Given the description of an element on the screen output the (x, y) to click on. 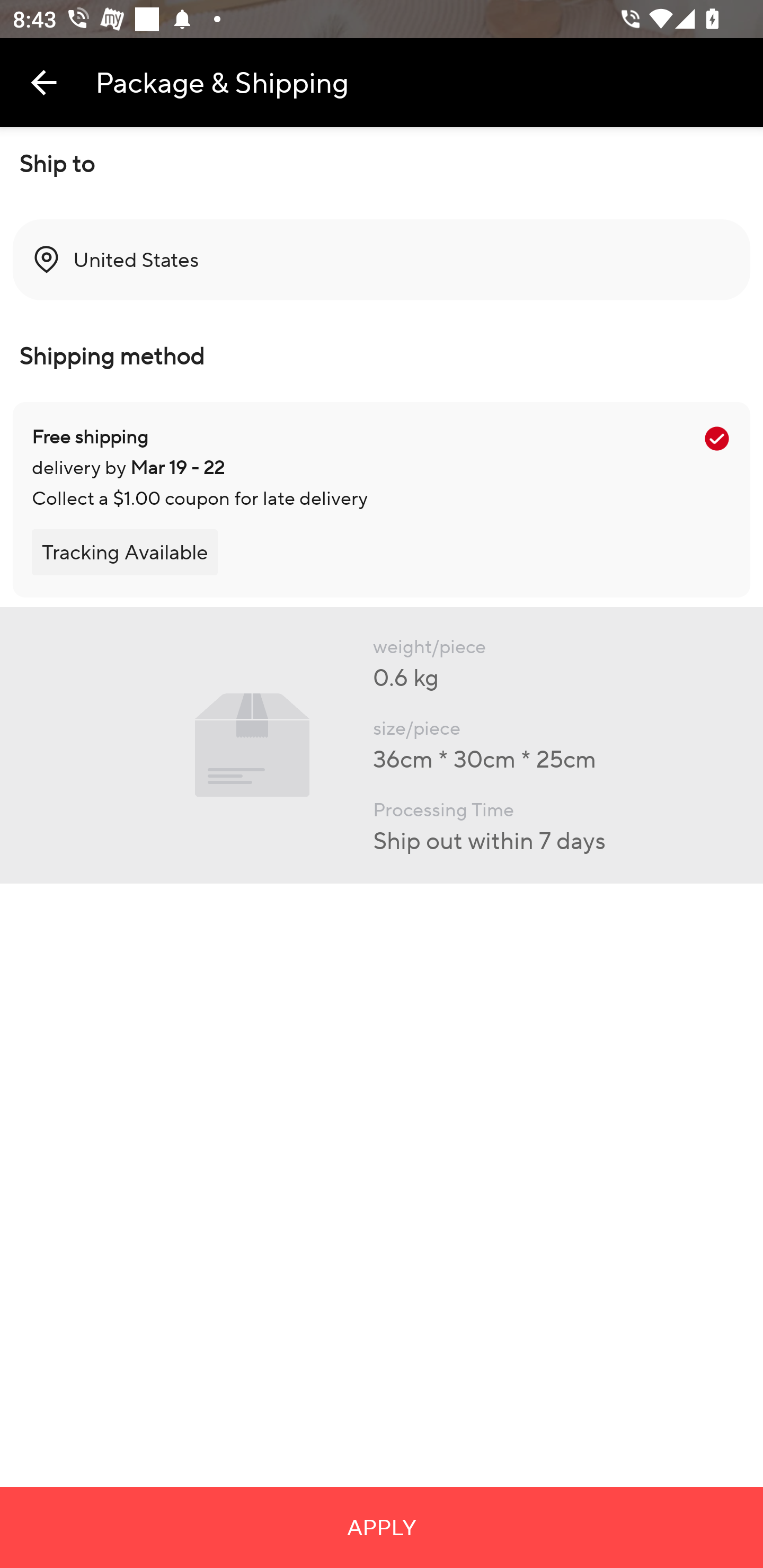
 United States (381, 260)
APPLY (381, 1527)
